Given the description of an element on the screen output the (x, y) to click on. 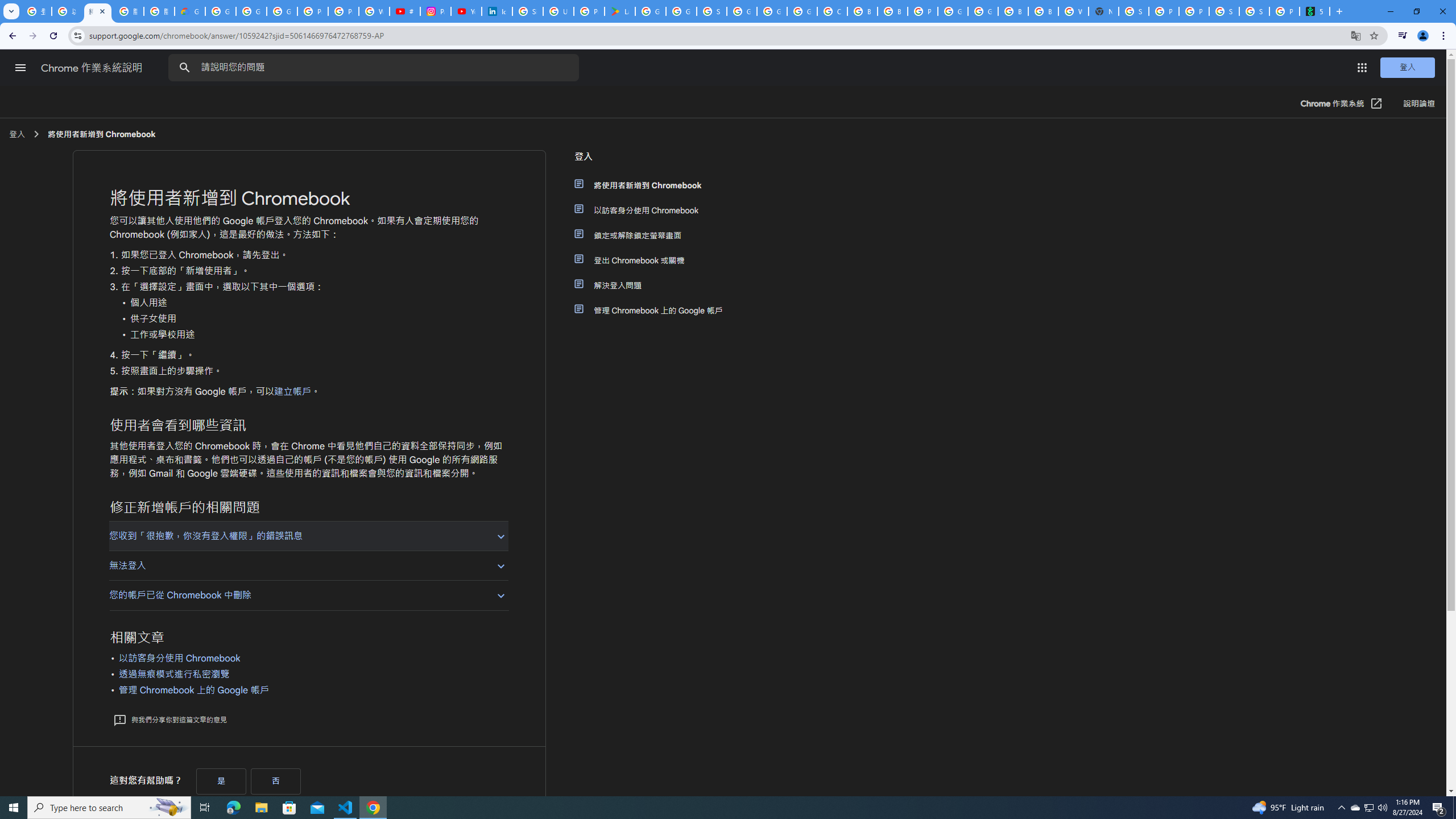
New Tab (1103, 11)
Forward (32, 35)
You (1422, 35)
Privacy Help Center - Policies Help (343, 11)
Address and search bar (715, 35)
